Given the description of an element on the screen output the (x, y) to click on. 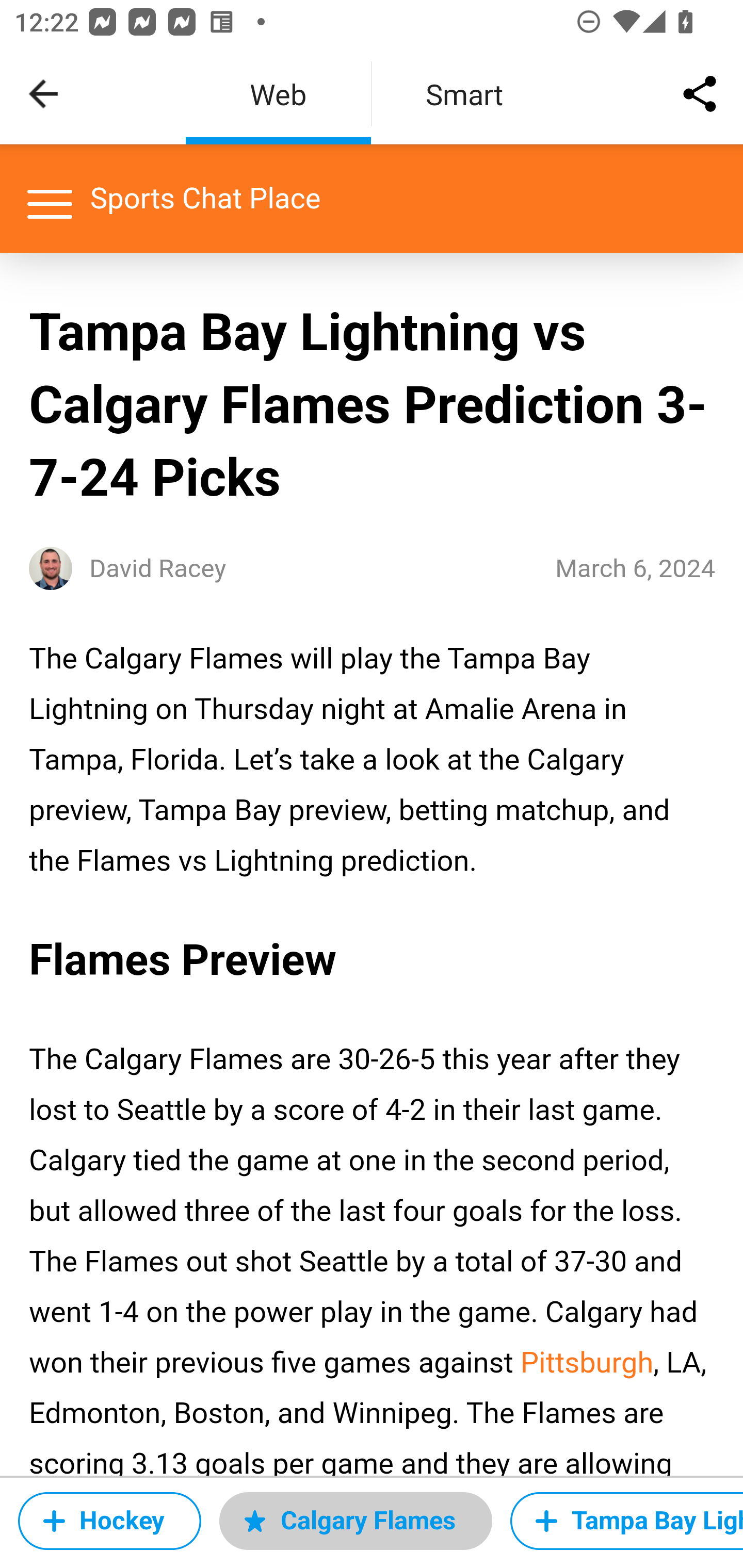
Web (277, 93)
Smart (464, 93)
Sports Chat Place (205, 198)
Pittsburgh (587, 1363)
Hockey (109, 1520)
Calgary Flames (355, 1520)
Tampa Bay Lightning (626, 1520)
